Given the description of an element on the screen output the (x, y) to click on. 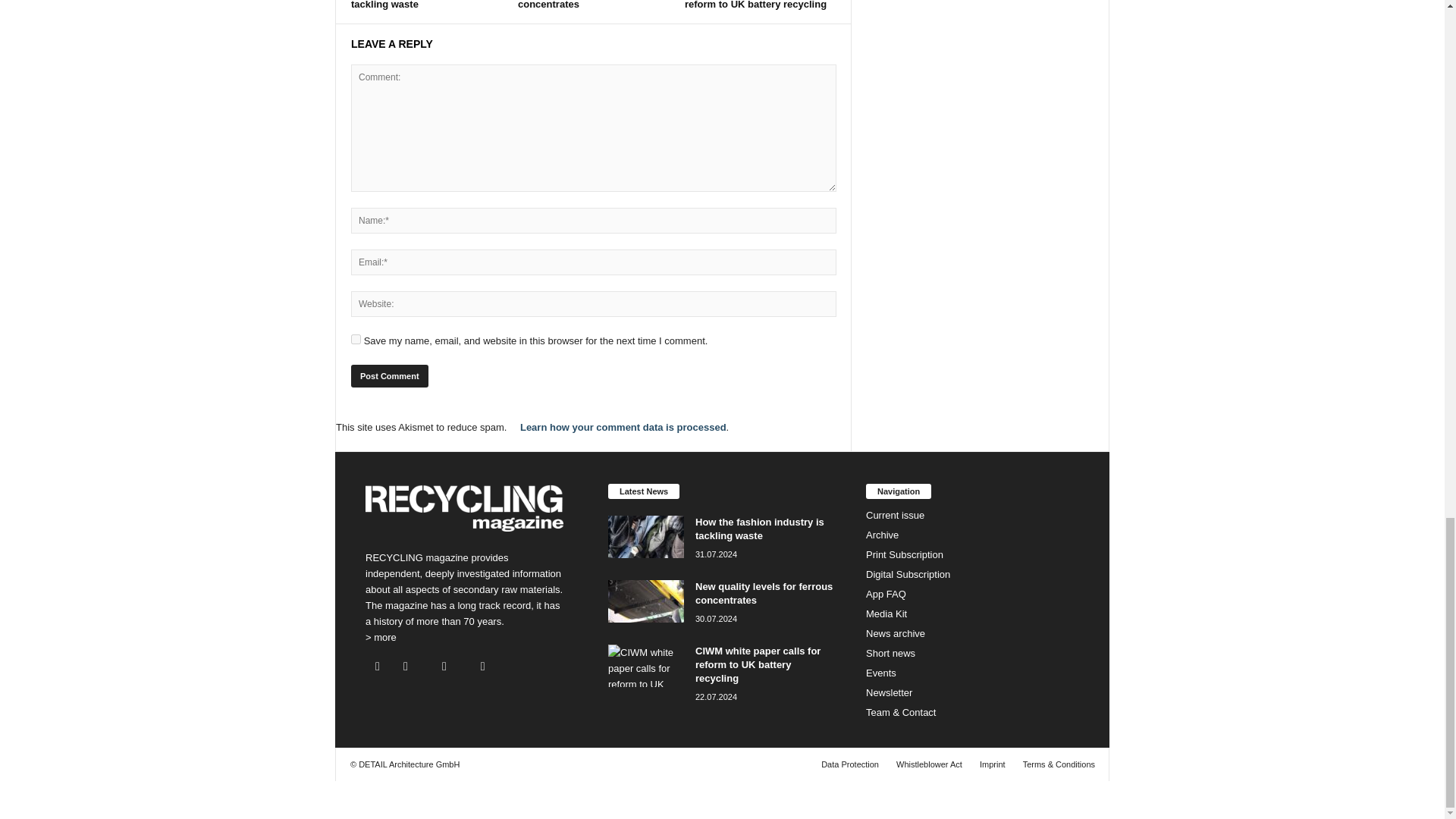
Post Comment (389, 375)
yes (355, 338)
